Given the description of an element on the screen output the (x, y) to click on. 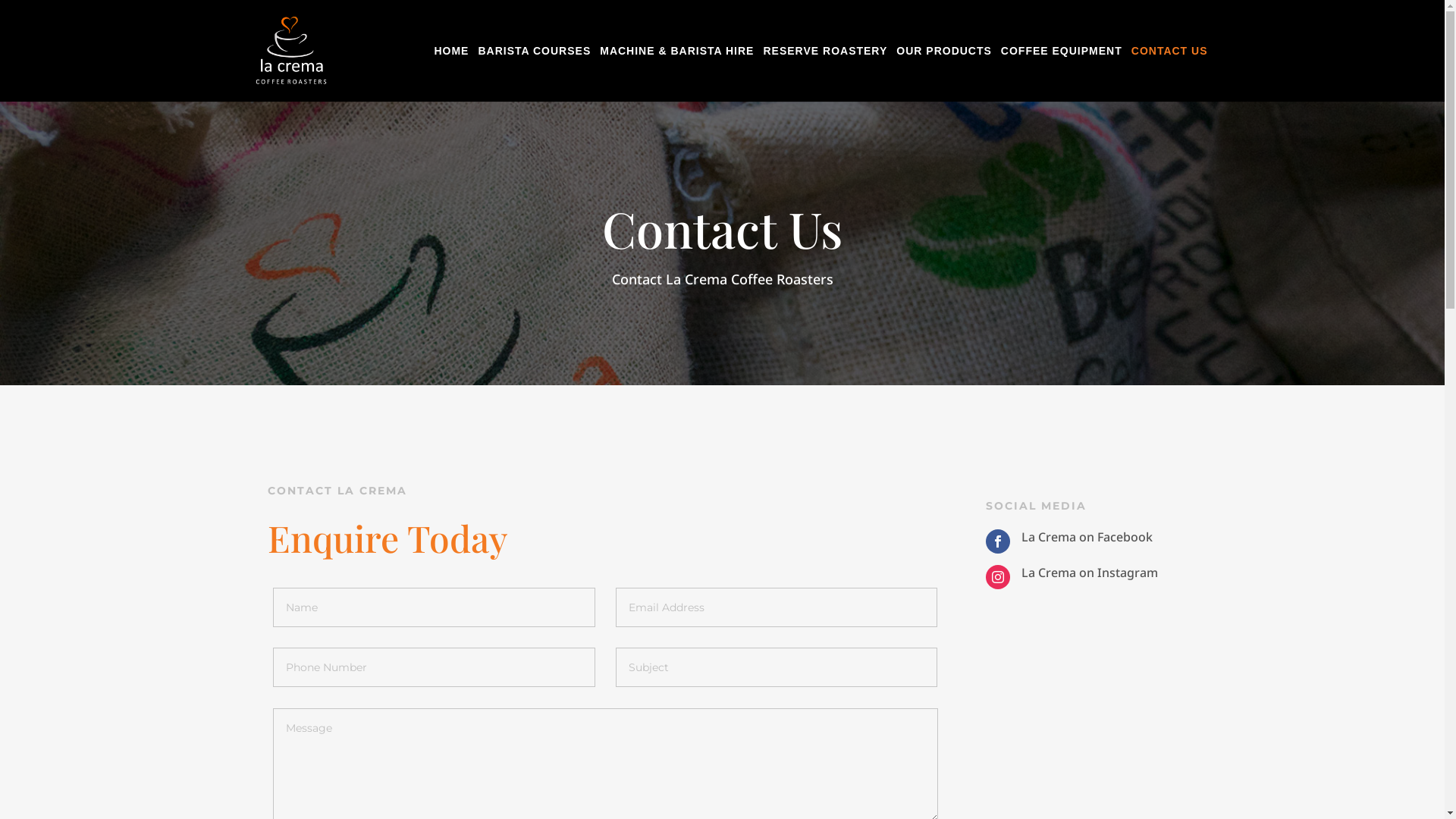
COFFEE EQUIPMENT Element type: text (1061, 73)
MACHINE & BARISTA HIRE Element type: text (676, 73)
CONTACT US Element type: text (1169, 73)
OUR PRODUCTS Element type: text (943, 73)
BARISTA COURSES Element type: text (533, 73)
RESERVE ROASTERY Element type: text (824, 73)
HOME Element type: text (450, 73)
La Crema on Facebook Element type: text (1085, 536)
La Crema on Instagram Element type: text (1088, 572)
